Given the description of an element on the screen output the (x, y) to click on. 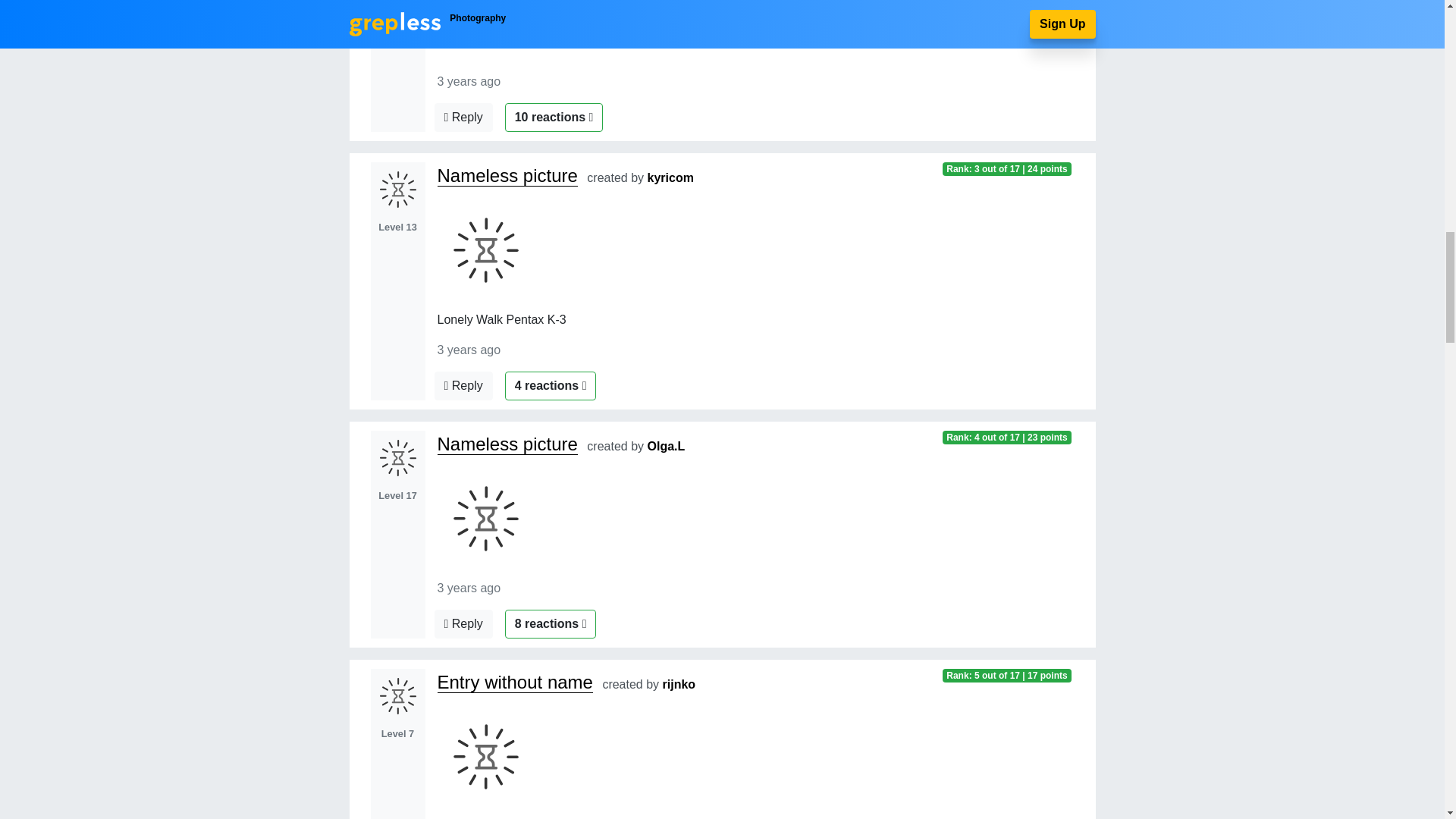
Answers to this response (462, 623)
Answers to this response (462, 117)
Answers to this response (462, 385)
